Given the description of an element on the screen output the (x, y) to click on. 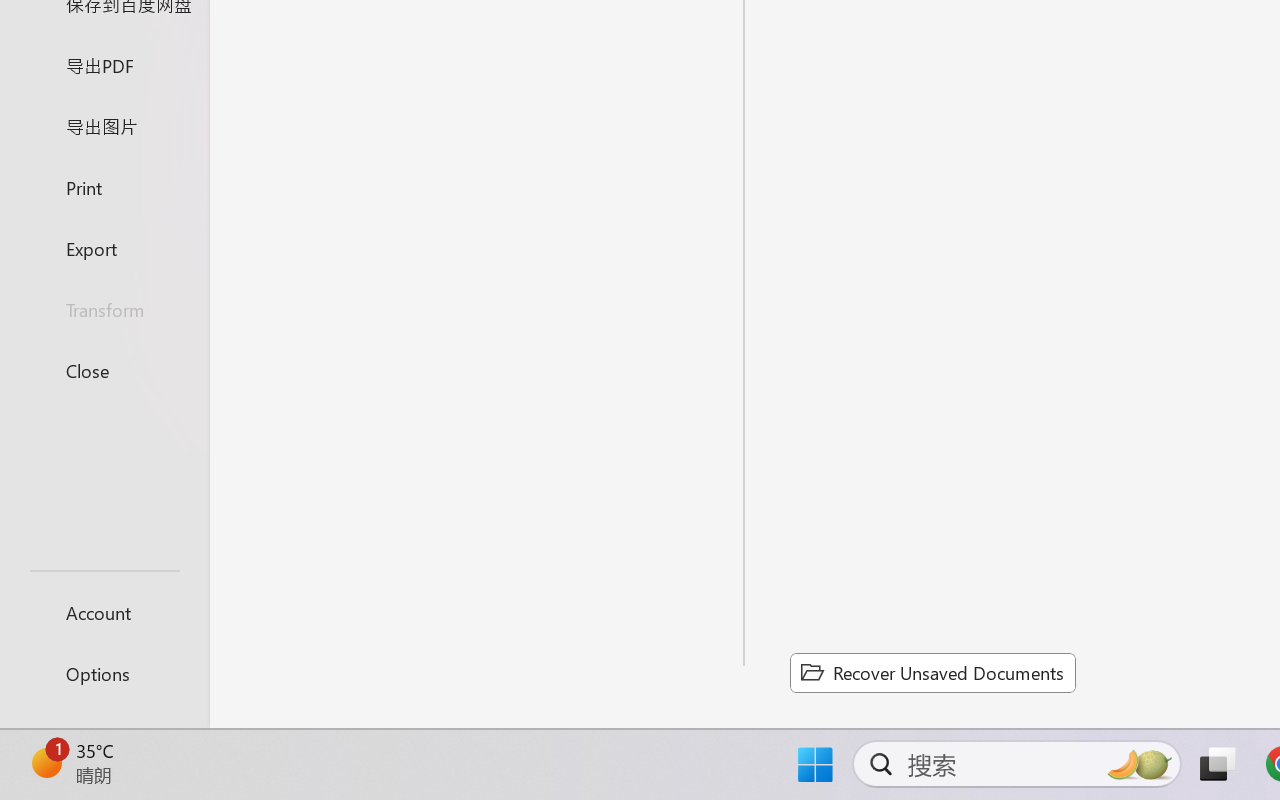
Recover Unsaved Documents (932, 672)
Transform (104, 309)
Export (104, 248)
Print (104, 186)
Account (104, 612)
Options (104, 673)
